Given the description of an element on the screen output the (x, y) to click on. 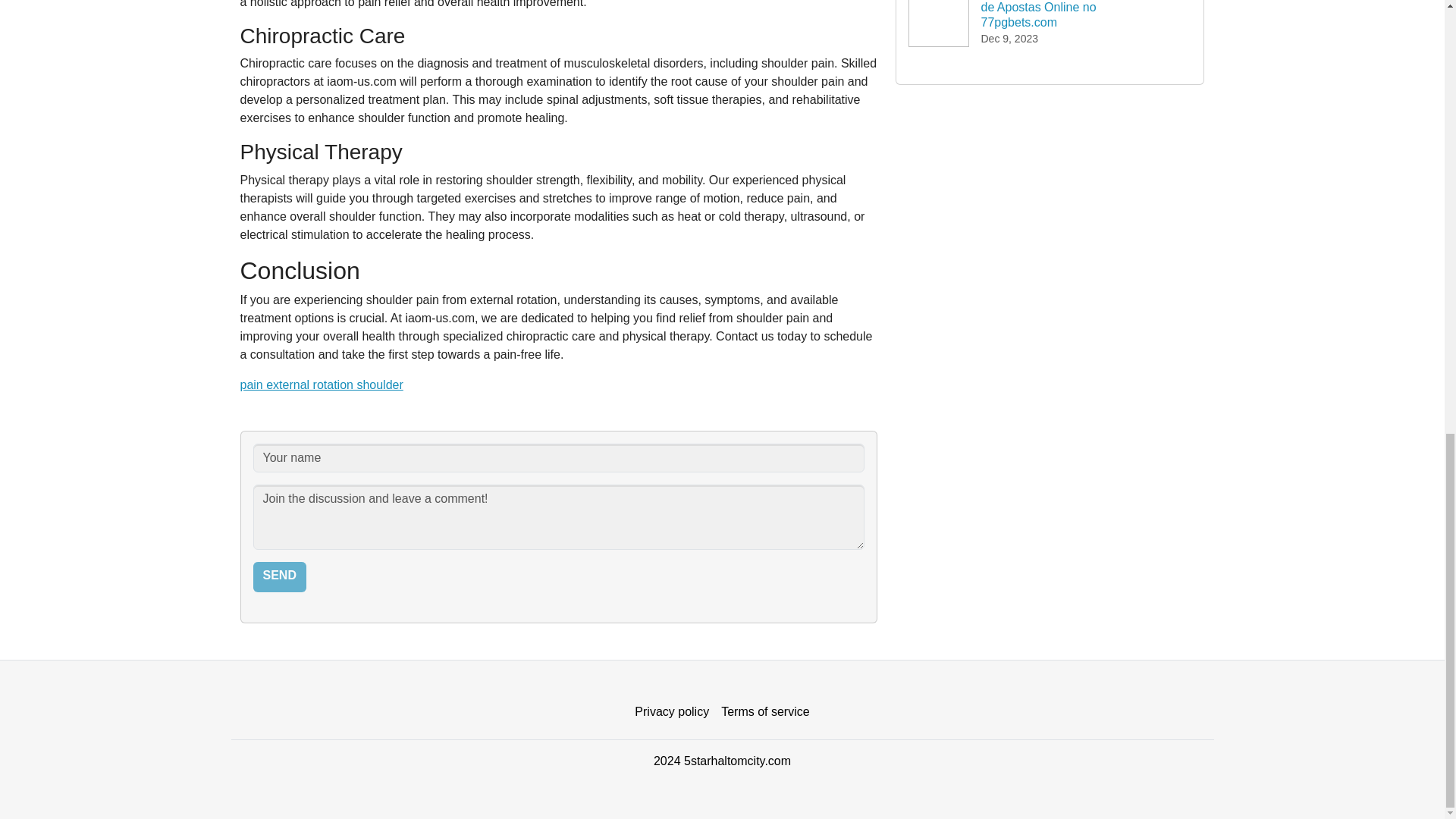
Privacy policy (671, 711)
pain external rotation shoulder (321, 384)
Send (279, 576)
Terms of service (764, 711)
Send (279, 576)
